Given the description of an element on the screen output the (x, y) to click on. 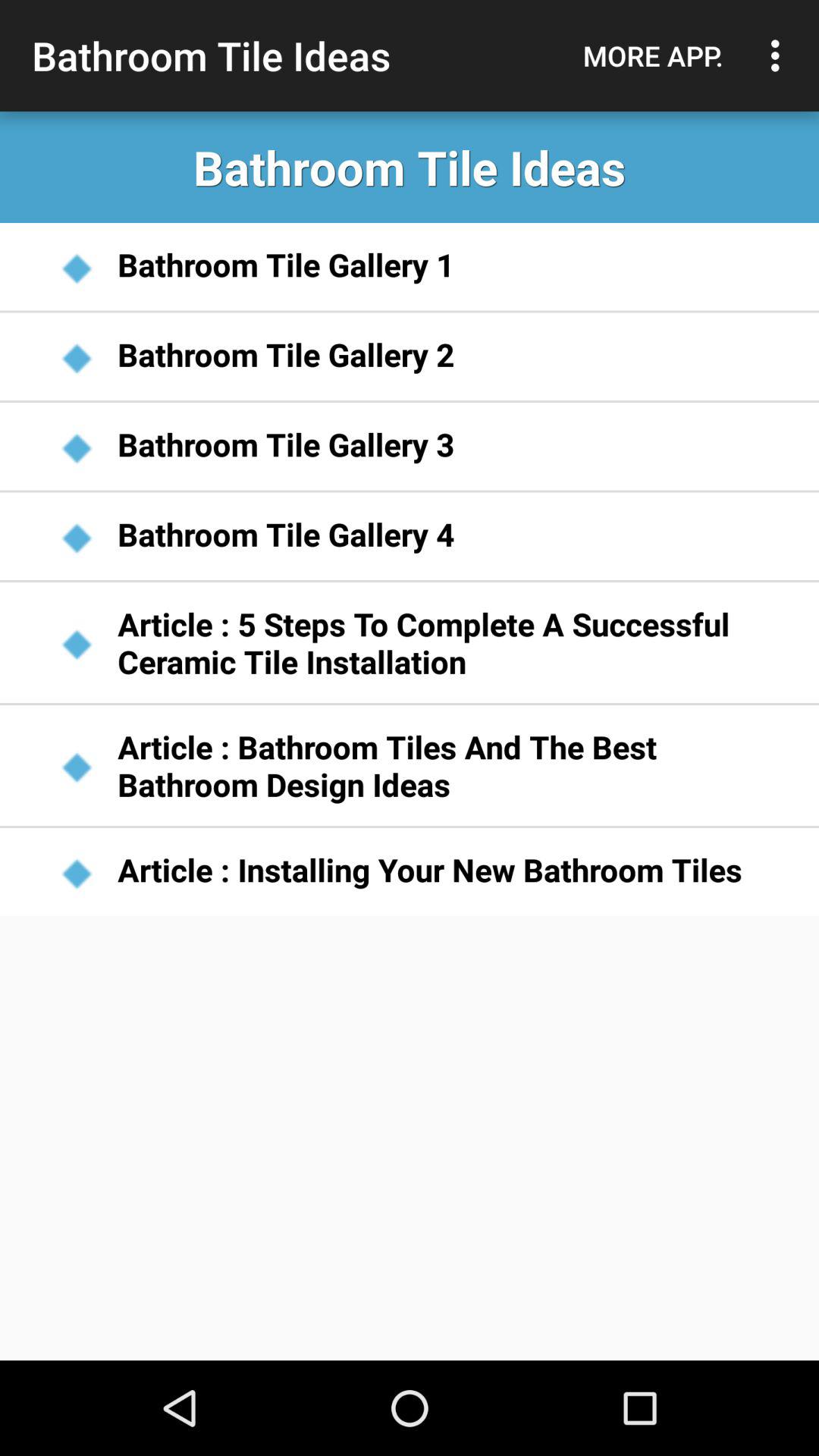
select the icon next to the more app. item (779, 55)
